Given the description of an element on the screen output the (x, y) to click on. 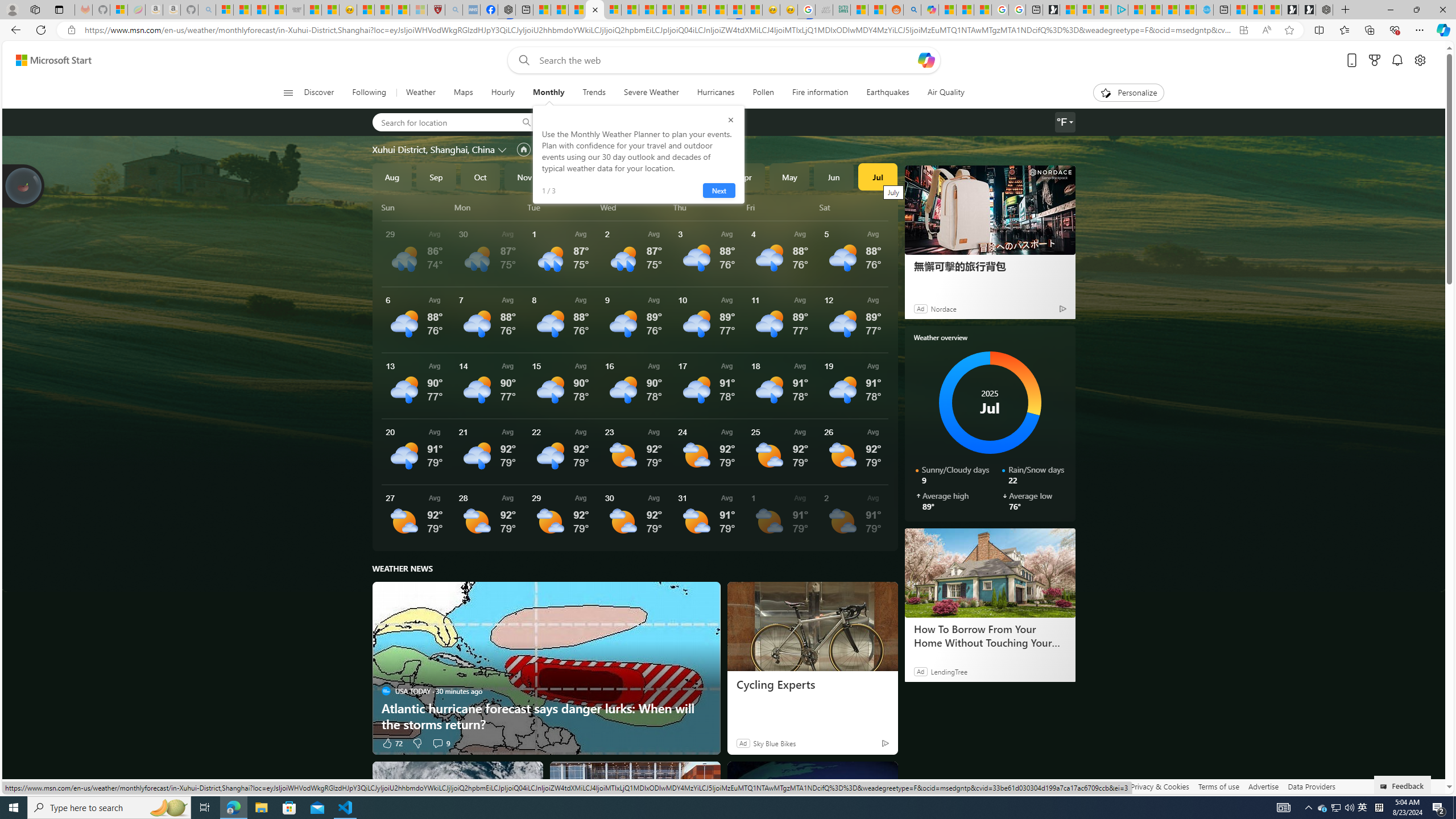
Nordace (943, 308)
Dec (568, 176)
Ad Choice (884, 743)
Set as primary location (522, 149)
Utah sues federal government - Search (912, 9)
Microsoft Start Gaming (1051, 9)
Severe Weather (651, 92)
Play Free Online Games | Games from Microsoft Start (1307, 9)
Following (368, 92)
